Given the description of an element on the screen output the (x, y) to click on. 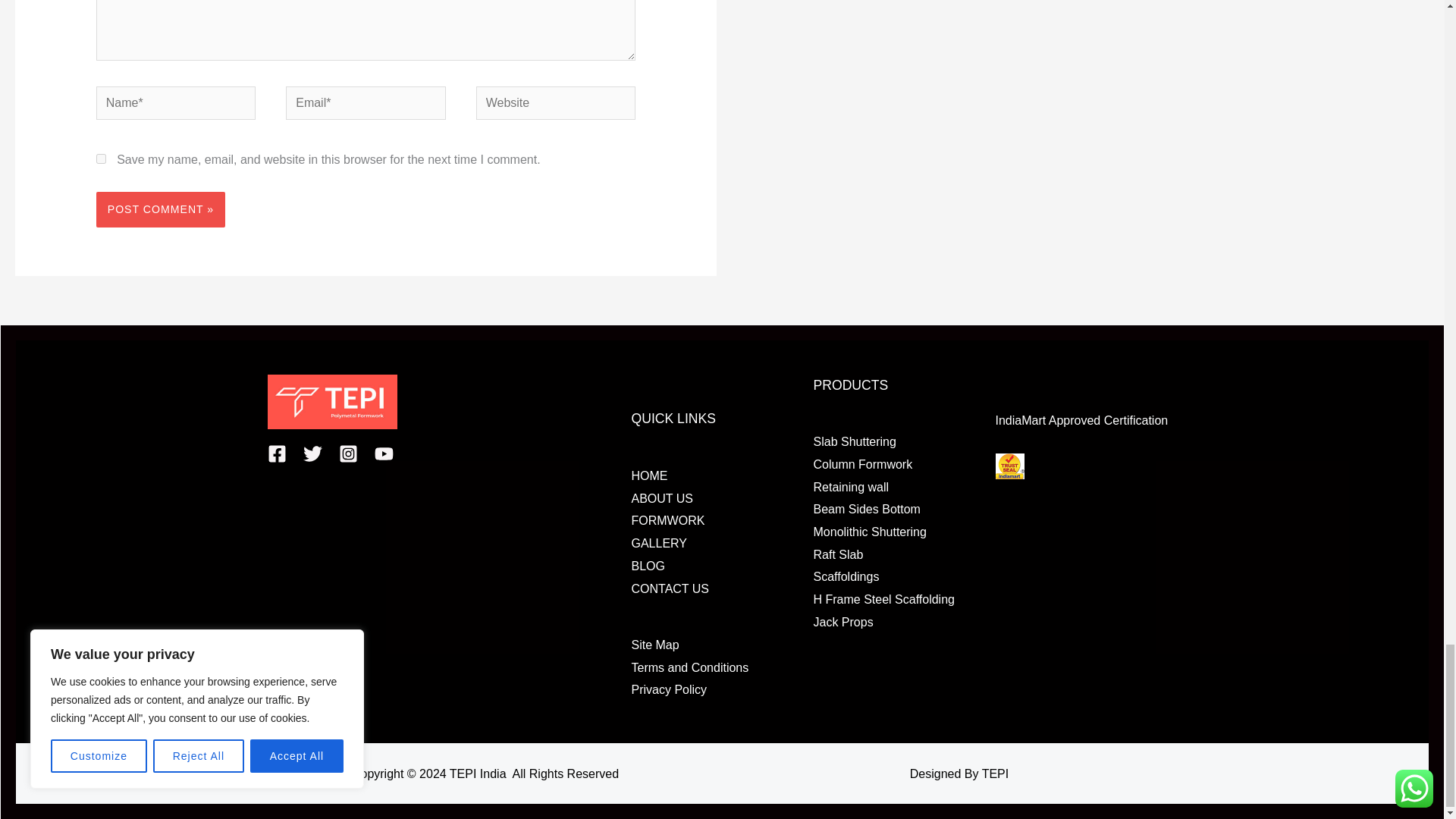
yes (101, 158)
